Given the description of an element on the screen output the (x, y) to click on. 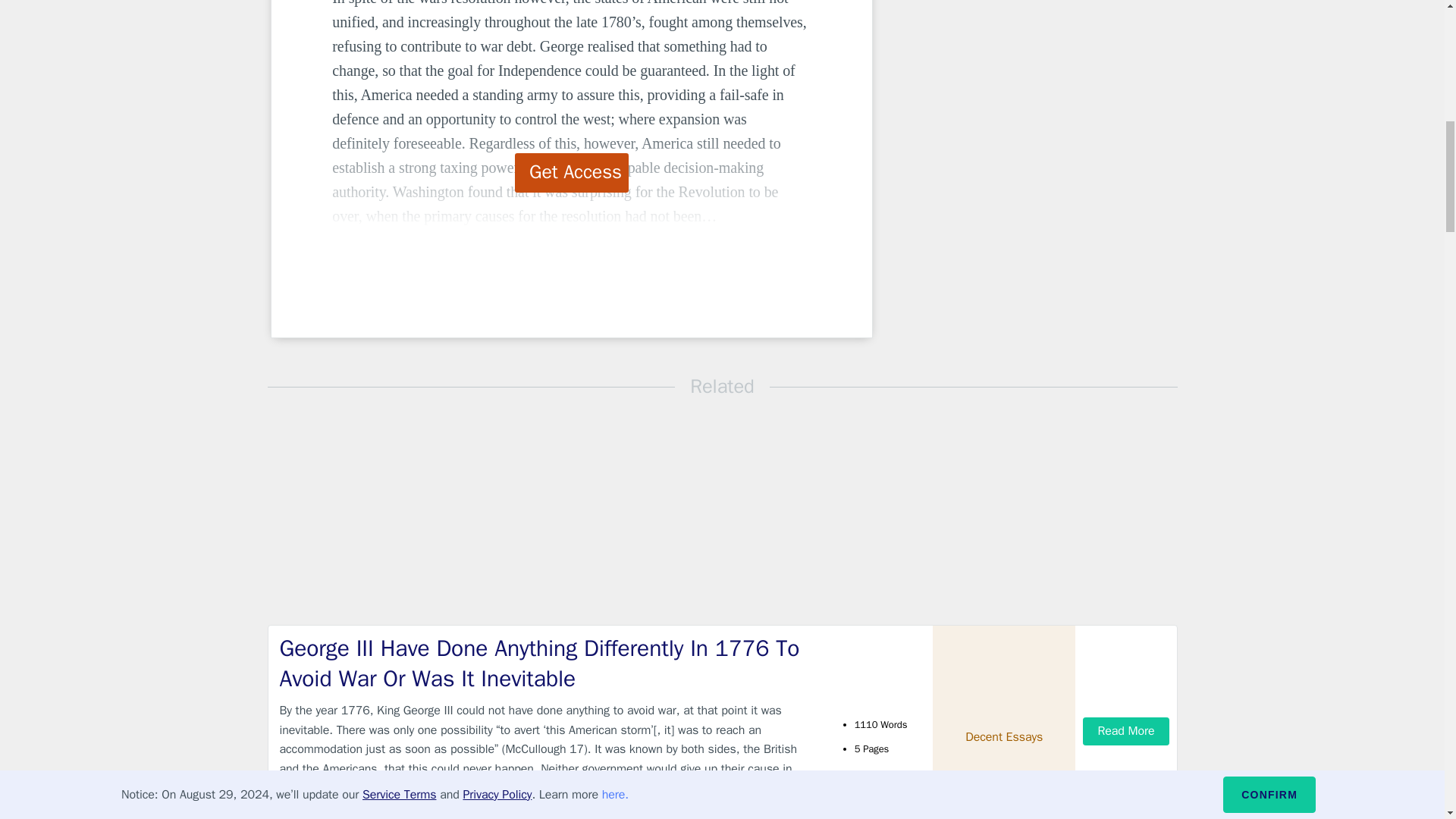
Read More (1126, 731)
Get Access (571, 172)
